Given the description of an element on the screen output the (x, y) to click on. 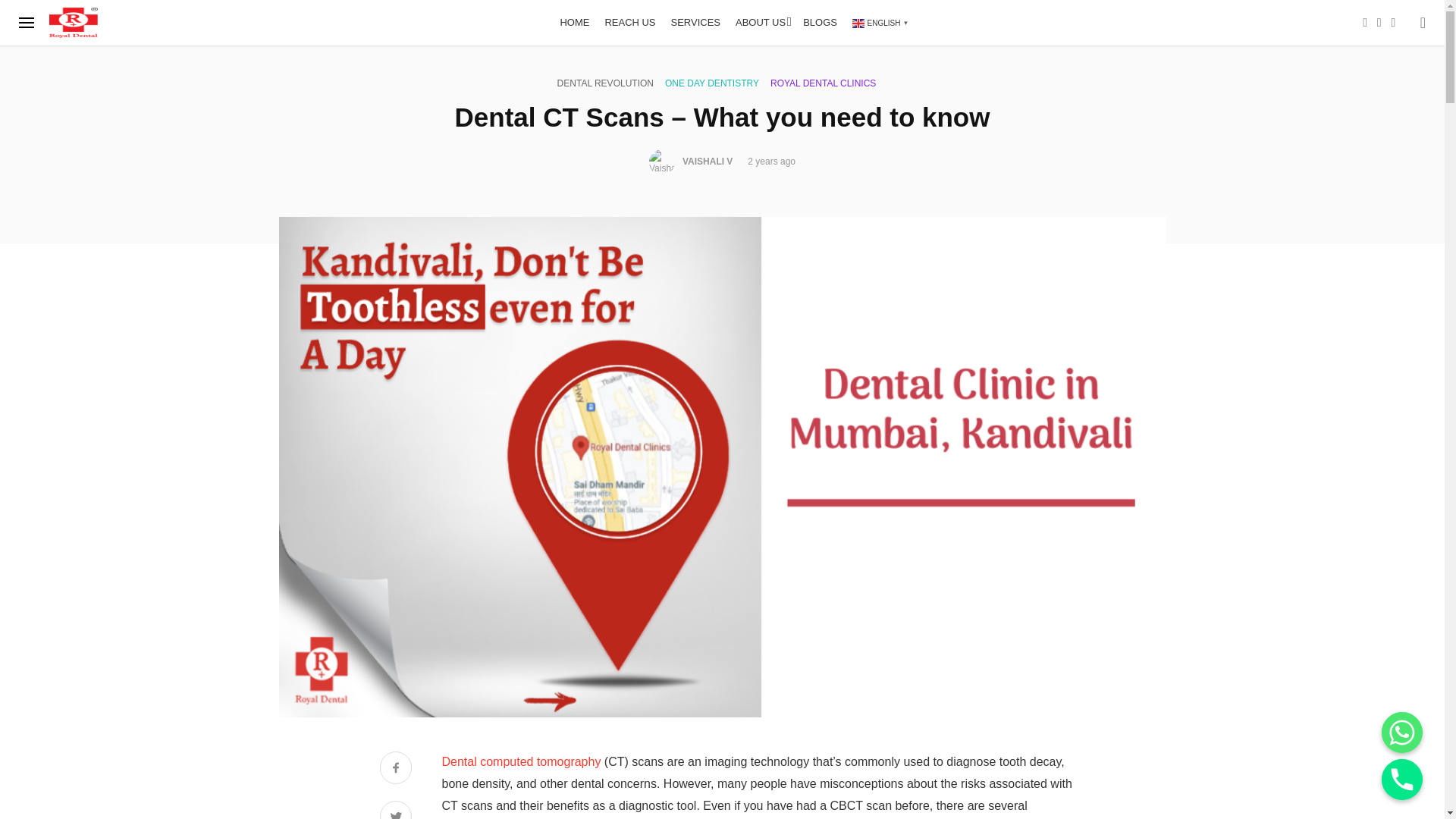
VAISHALI V (707, 161)
SERVICES (695, 22)
ROYAL DENTAL CLINICS (823, 83)
Share on Twitter (395, 809)
DENTAL REVOLUTION (605, 83)
Dental computed tomography (520, 761)
ONE DAY DENTISTRY (711, 83)
HOME (573, 22)
September 15, 2022 at 8:15 am (771, 161)
ABOUT US (761, 22)
REACH US (629, 22)
Share on Facebook (395, 769)
BLOGS (819, 22)
